Given the description of an element on the screen output the (x, y) to click on. 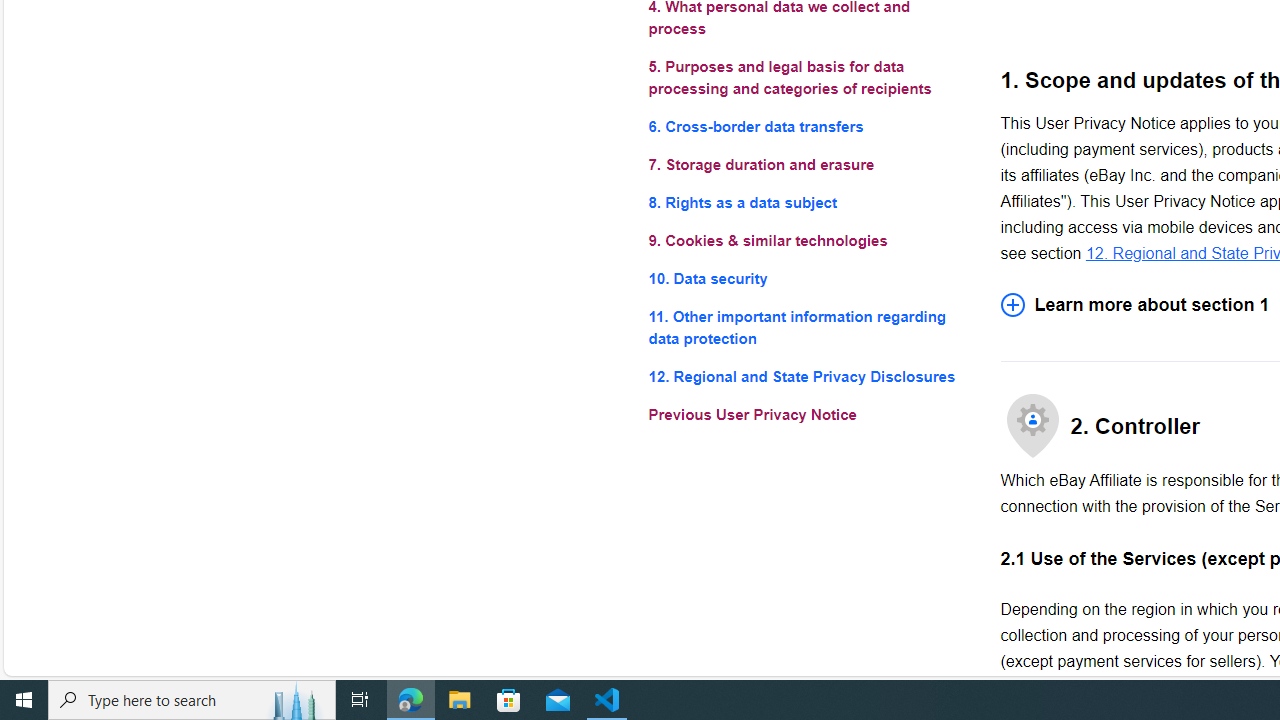
7. Storage duration and erasure (807, 164)
6. Cross-border data transfers (807, 126)
Previous User Privacy Notice (807, 414)
